Given the description of an element on the screen output the (x, y) to click on. 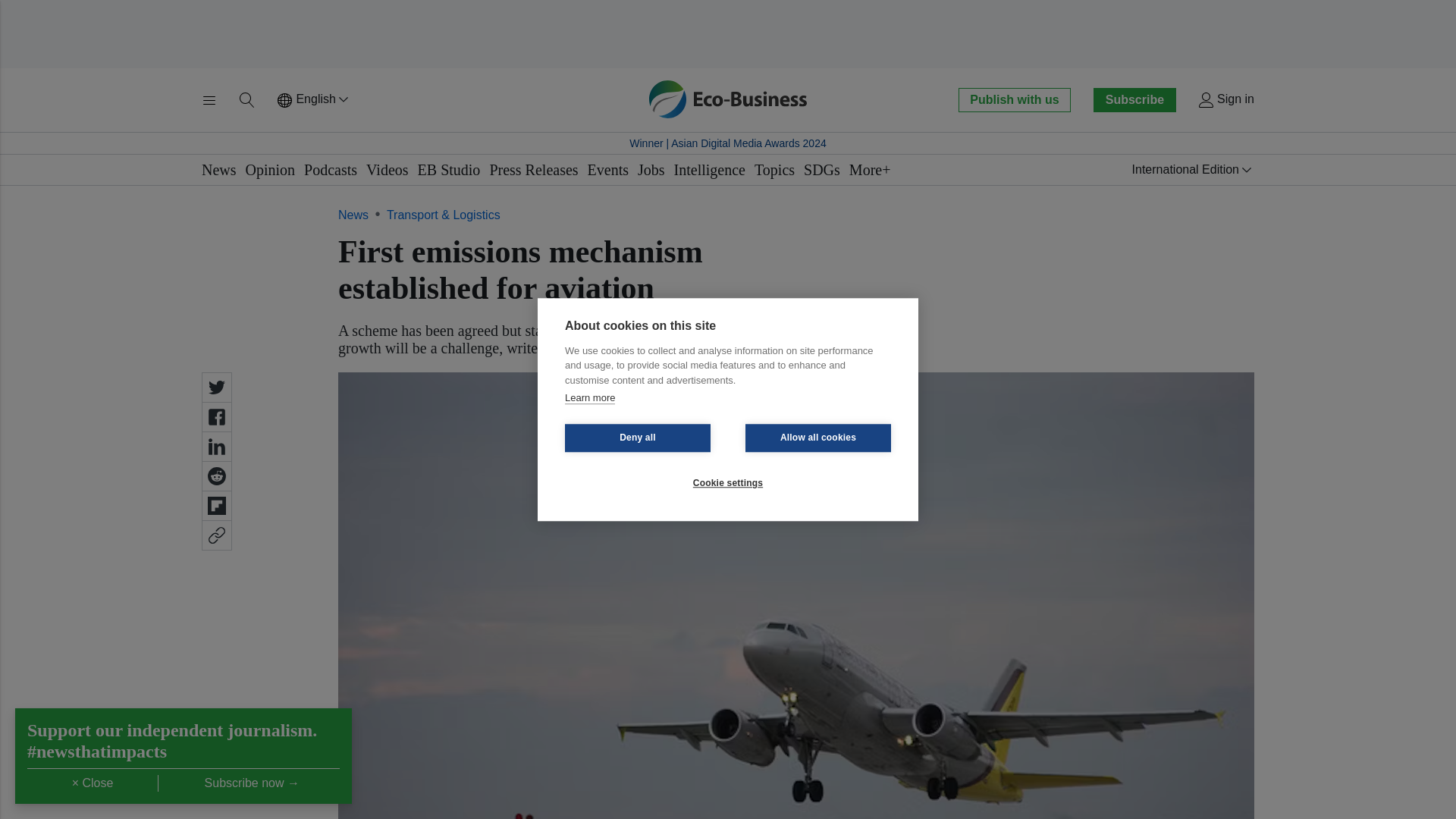
Menu (209, 99)
Share on Facebook (216, 417)
Cookie settings (727, 482)
Allow all cookies (818, 438)
Sign in (1225, 99)
Search (247, 99)
Learn more (589, 398)
Toggle search (247, 99)
3rd party ad content (727, 33)
Share on LinkedIn (216, 446)
Sign in or sign up (1225, 99)
Subscribe (1133, 99)
News (218, 169)
Publish with us (1014, 99)
Toggle menu (209, 99)
